Given the description of an element on the screen output the (x, y) to click on. 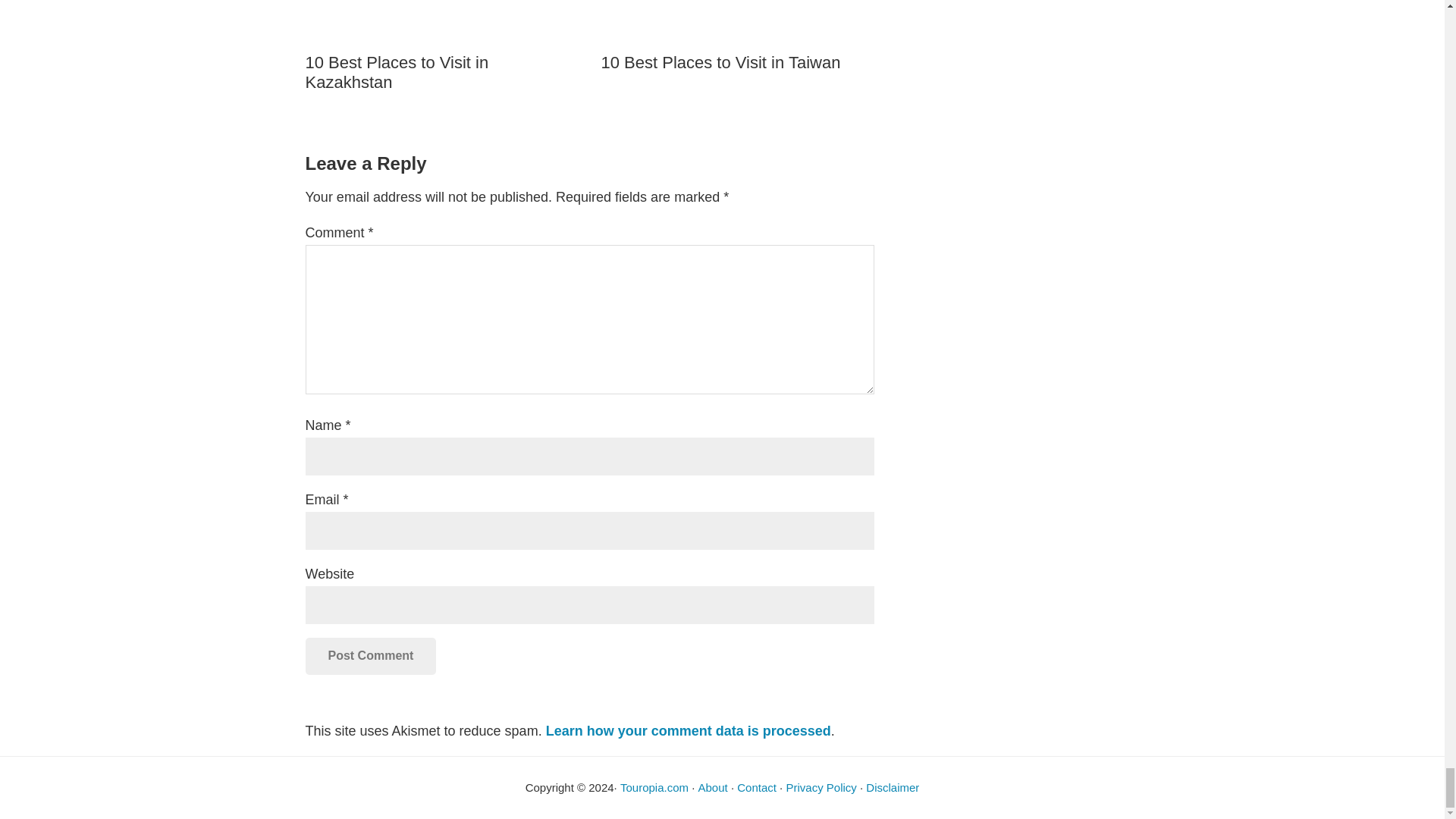
10 Best Places to Visit in Kazakhstan (441, 46)
Post Comment (369, 656)
